Given the description of an element on the screen output the (x, y) to click on. 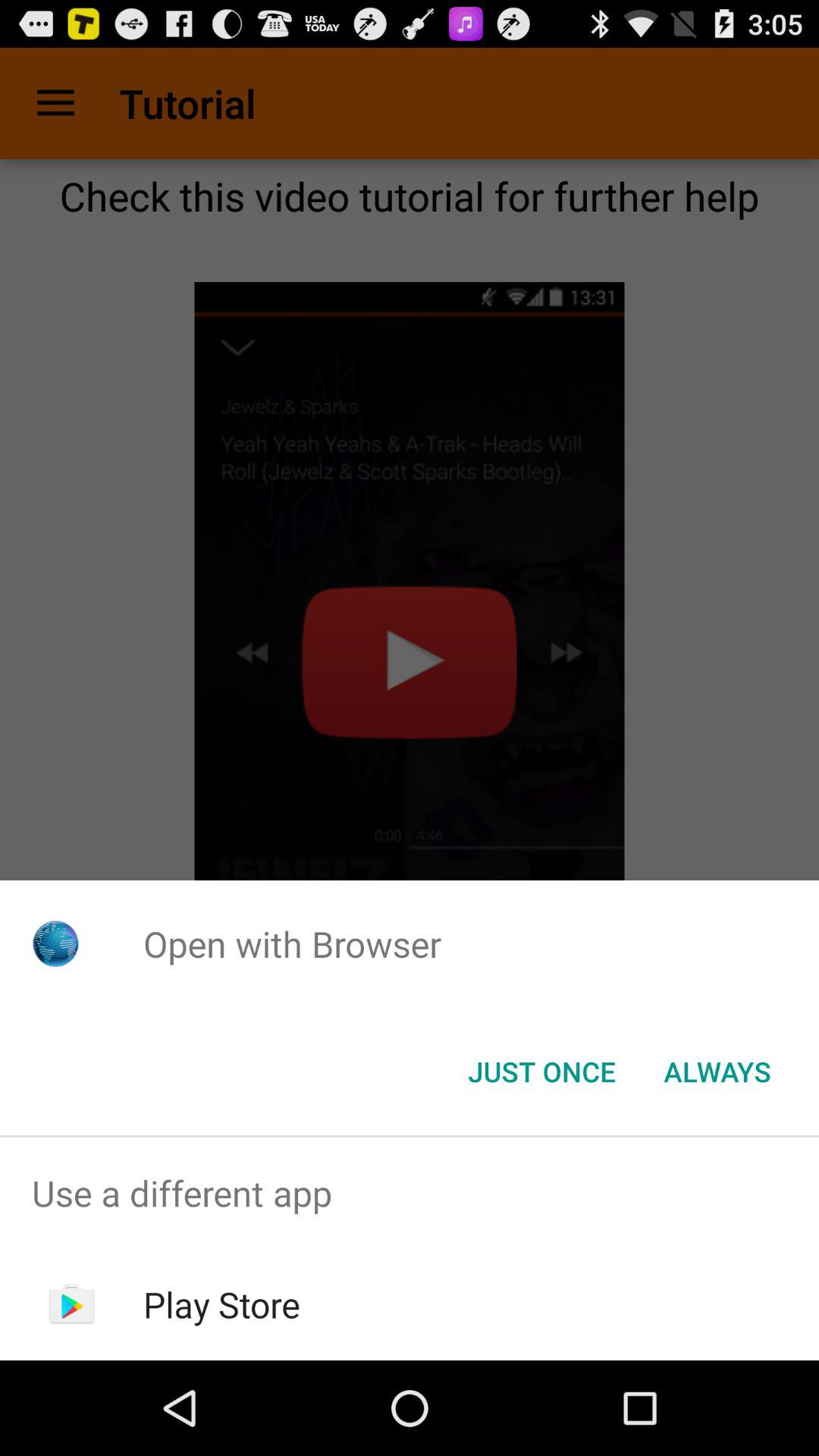
tap the item below open with browser (717, 1071)
